Given the description of an element on the screen output the (x, y) to click on. 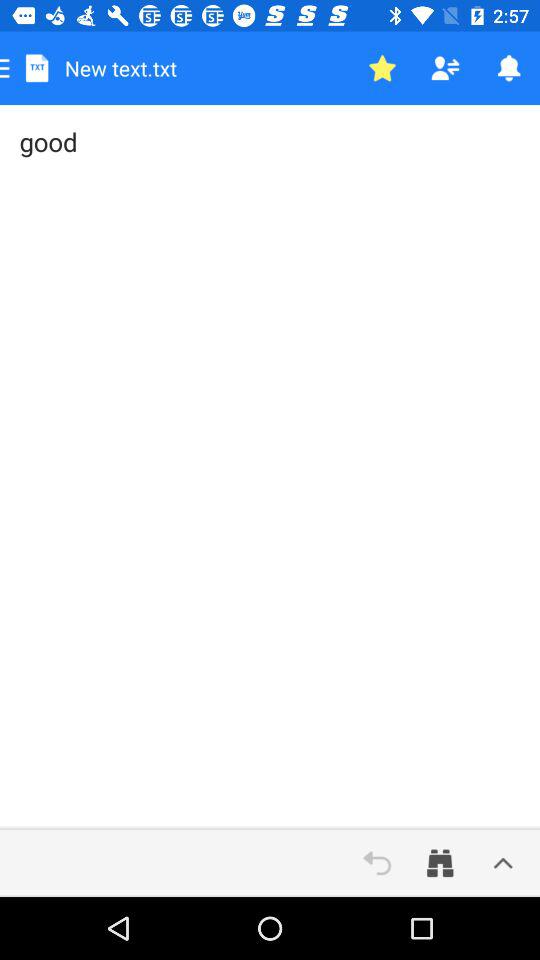
tap the icon at the center (270, 467)
